Given the description of an element on the screen output the (x, y) to click on. 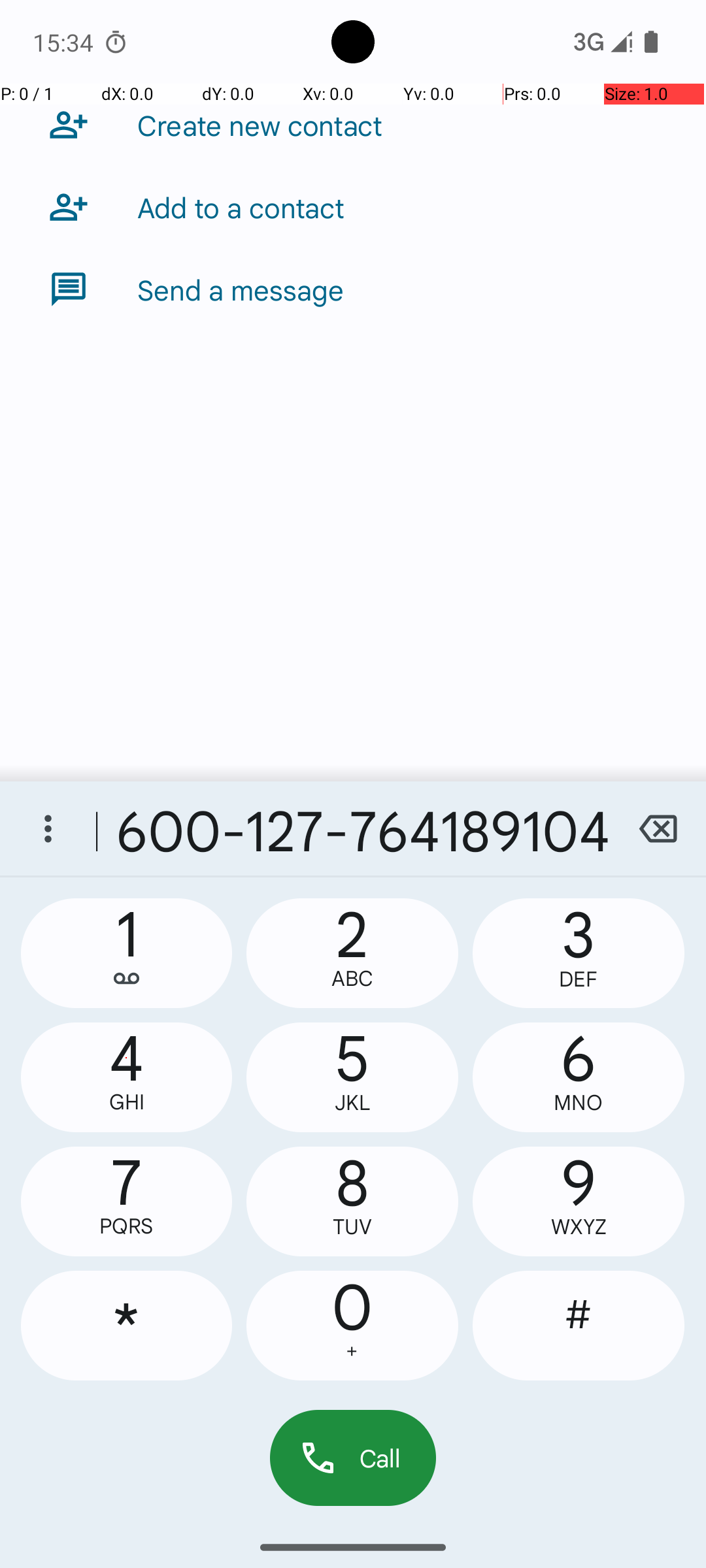
+1 600-127-764189104 Element type: android.widget.EditText (352, 828)
